Given the description of an element on the screen output the (x, y) to click on. 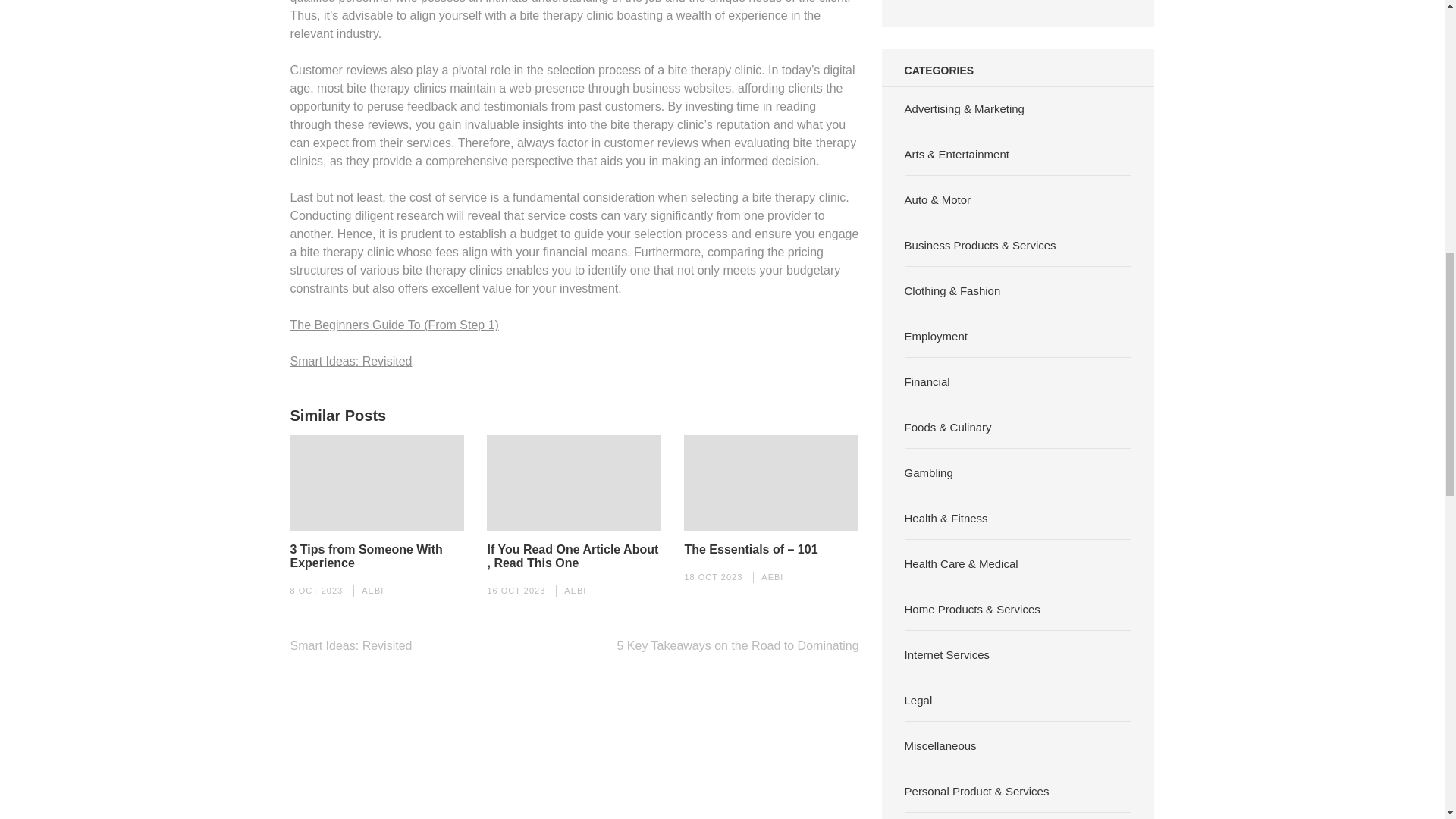
18 OCT 2023 (713, 576)
AEBI (772, 576)
8 OCT 2023 (315, 590)
16 OCT 2023 (515, 590)
Smart Ideas: Revisited (350, 645)
Smart Ideas: Revisited (350, 360)
5 Key Takeaways on the Road to Dominating (738, 645)
AEBI (372, 590)
AEBI (575, 590)
If You Read One Article About , Read This One (573, 556)
3 Tips from Someone With Experience (376, 556)
